Given the description of an element on the screen output the (x, y) to click on. 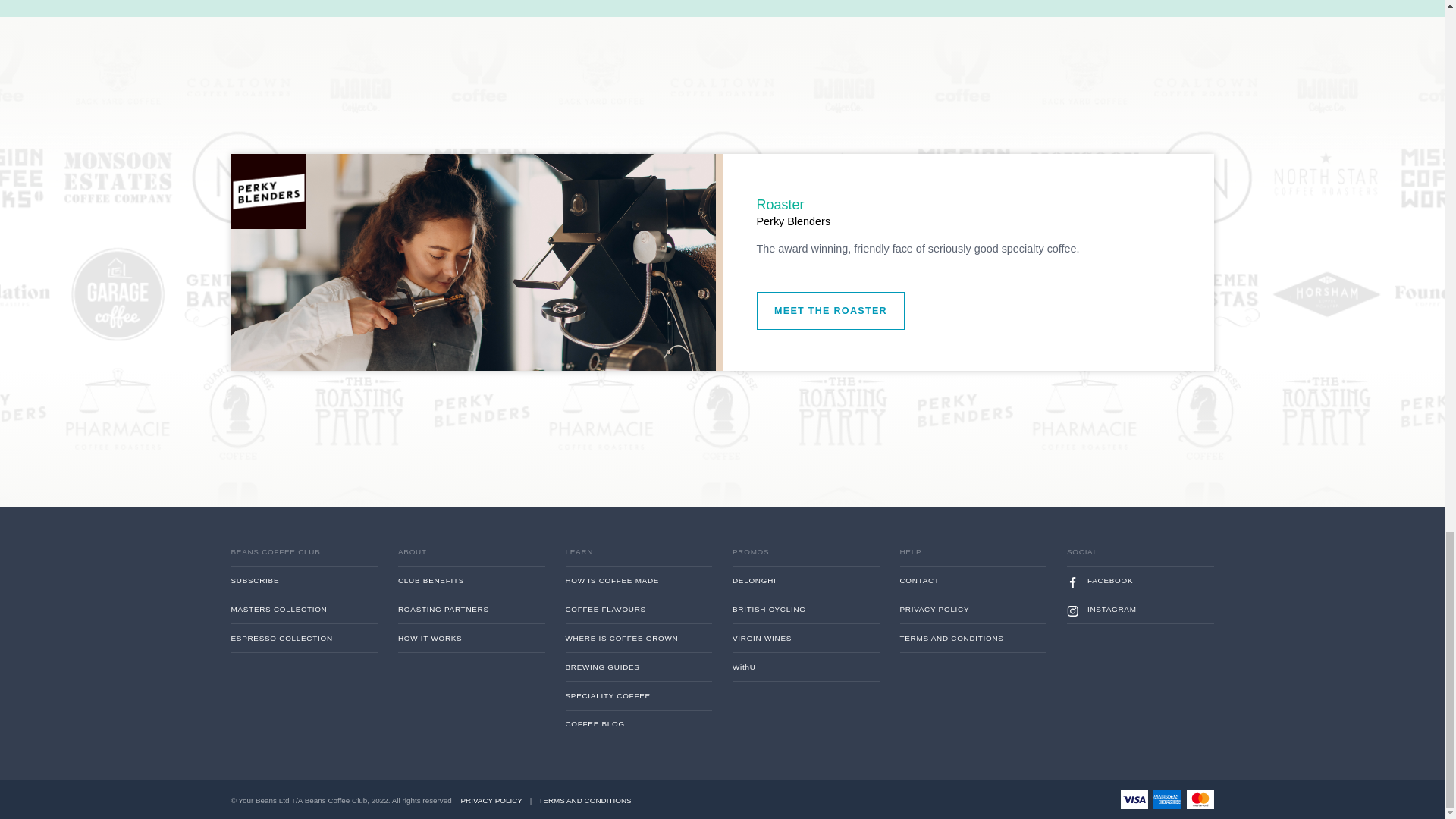
CLUB BENEFITS (523, 810)
HOW IS COFFEE MADE (708, 810)
SUBSCRIBE (337, 810)
MEET THE ROASTER (923, 516)
